Given the description of an element on the screen output the (x, y) to click on. 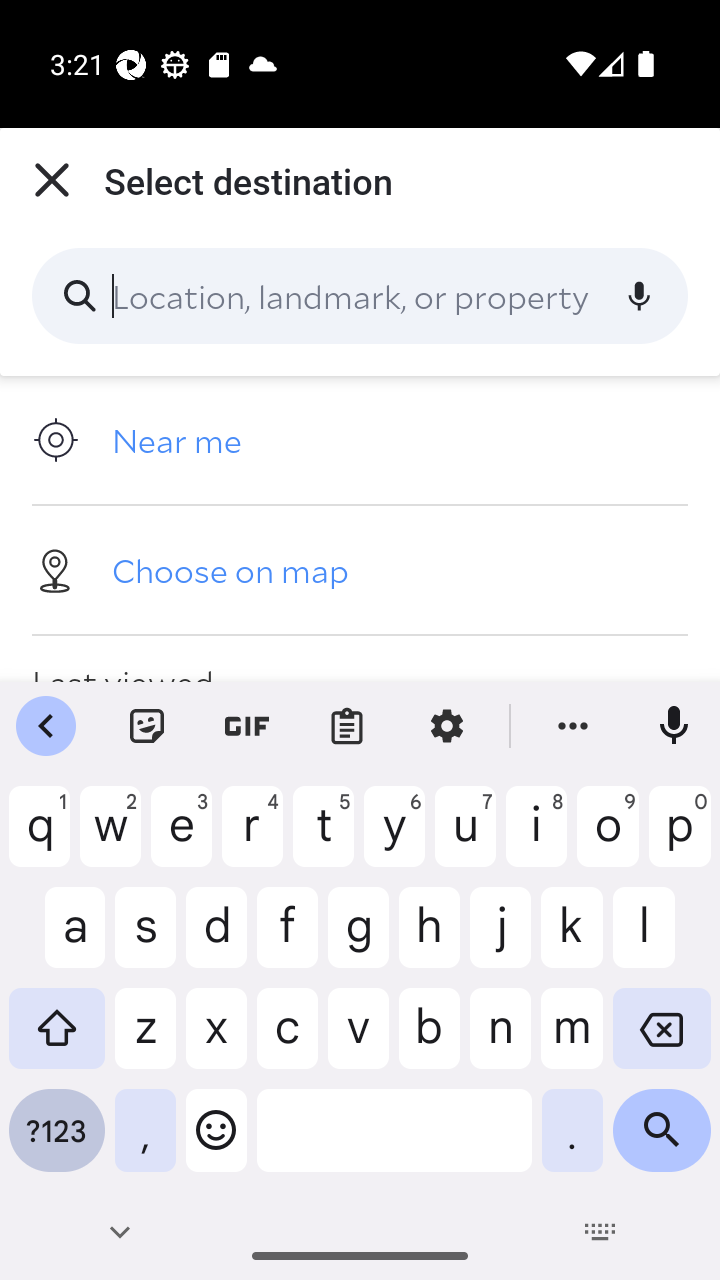
Location, landmark, or property (359, 296)
Near me (360, 440)
Choose on map (360, 569)
